Given the description of an element on the screen output the (x, y) to click on. 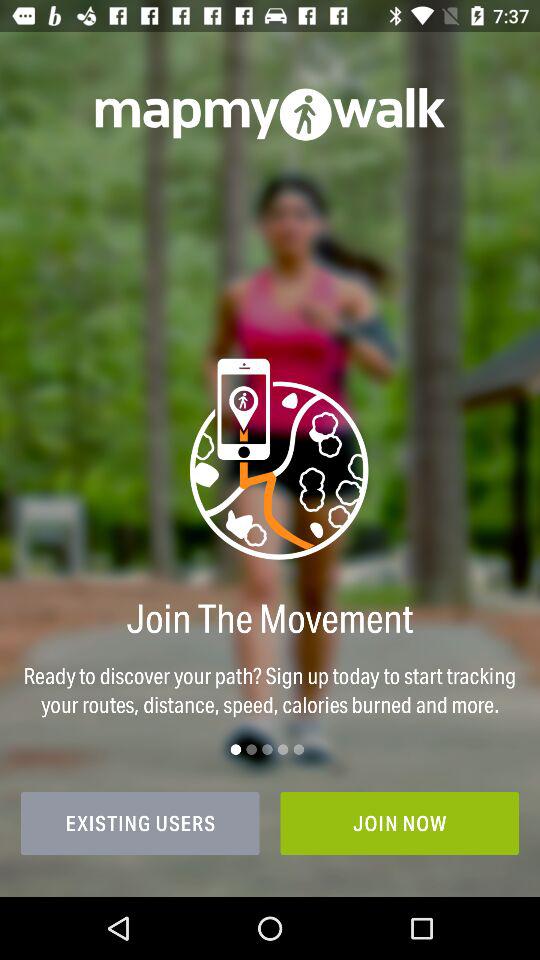
tap existing users (140, 823)
